Given the description of an element on the screen output the (x, y) to click on. 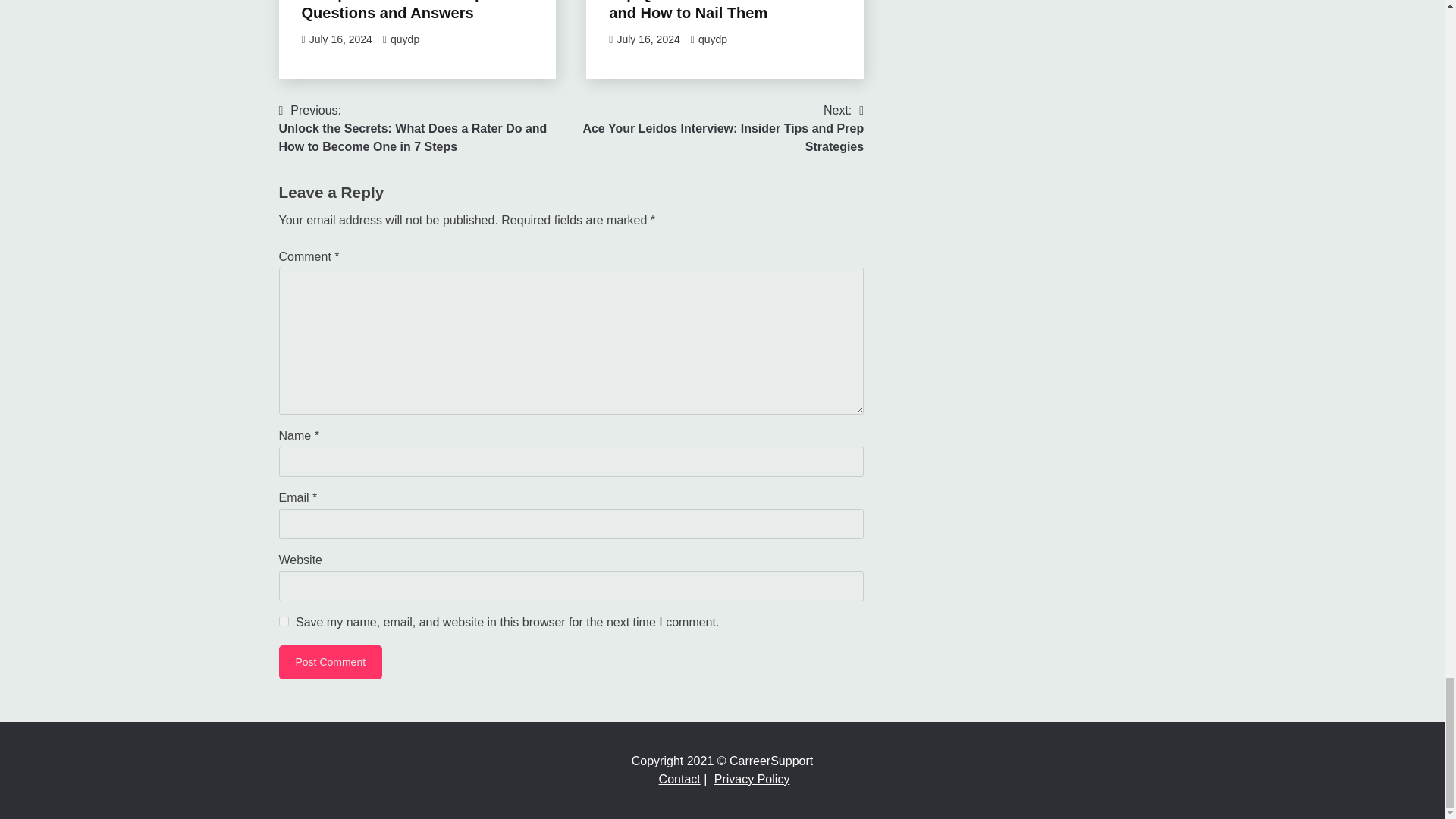
quydp (712, 39)
Privacy Policy (752, 779)
Post Comment (330, 662)
Contact (679, 779)
yes (283, 621)
July 16, 2024 (647, 39)
Post Comment (330, 662)
July 16, 2024 (340, 39)
quydp (404, 39)
